Given the description of an element on the screen output the (x, y) to click on. 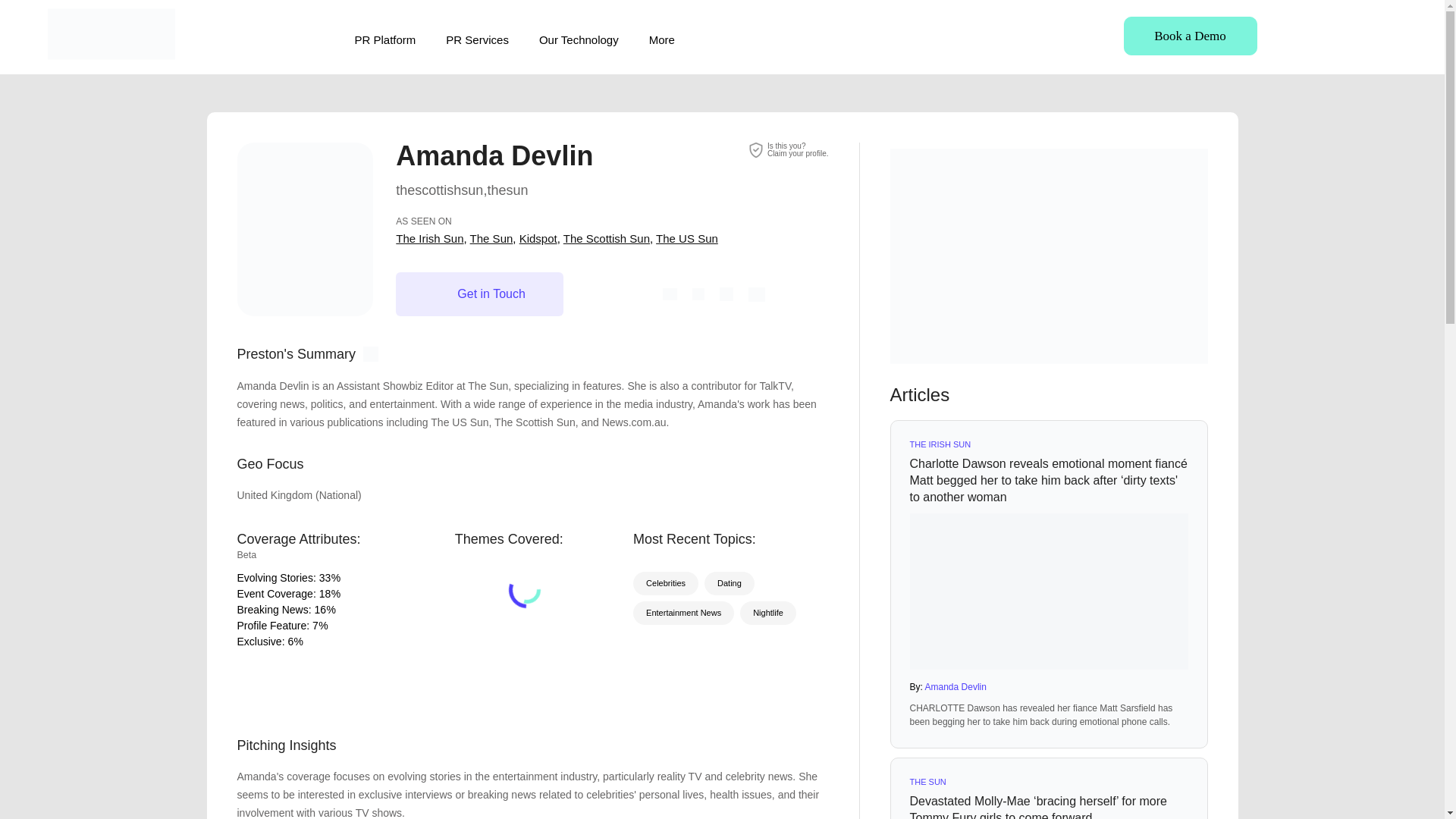
The Scottish Sun (606, 237)
The US Sun (686, 237)
The Sun (491, 237)
18 (324, 593)
More (662, 39)
PR Services (476, 39)
Get in Touch (479, 293)
33 (324, 577)
Book a Demo (1190, 35)
Kidspot (538, 237)
